Given the description of an element on the screen output the (x, y) to click on. 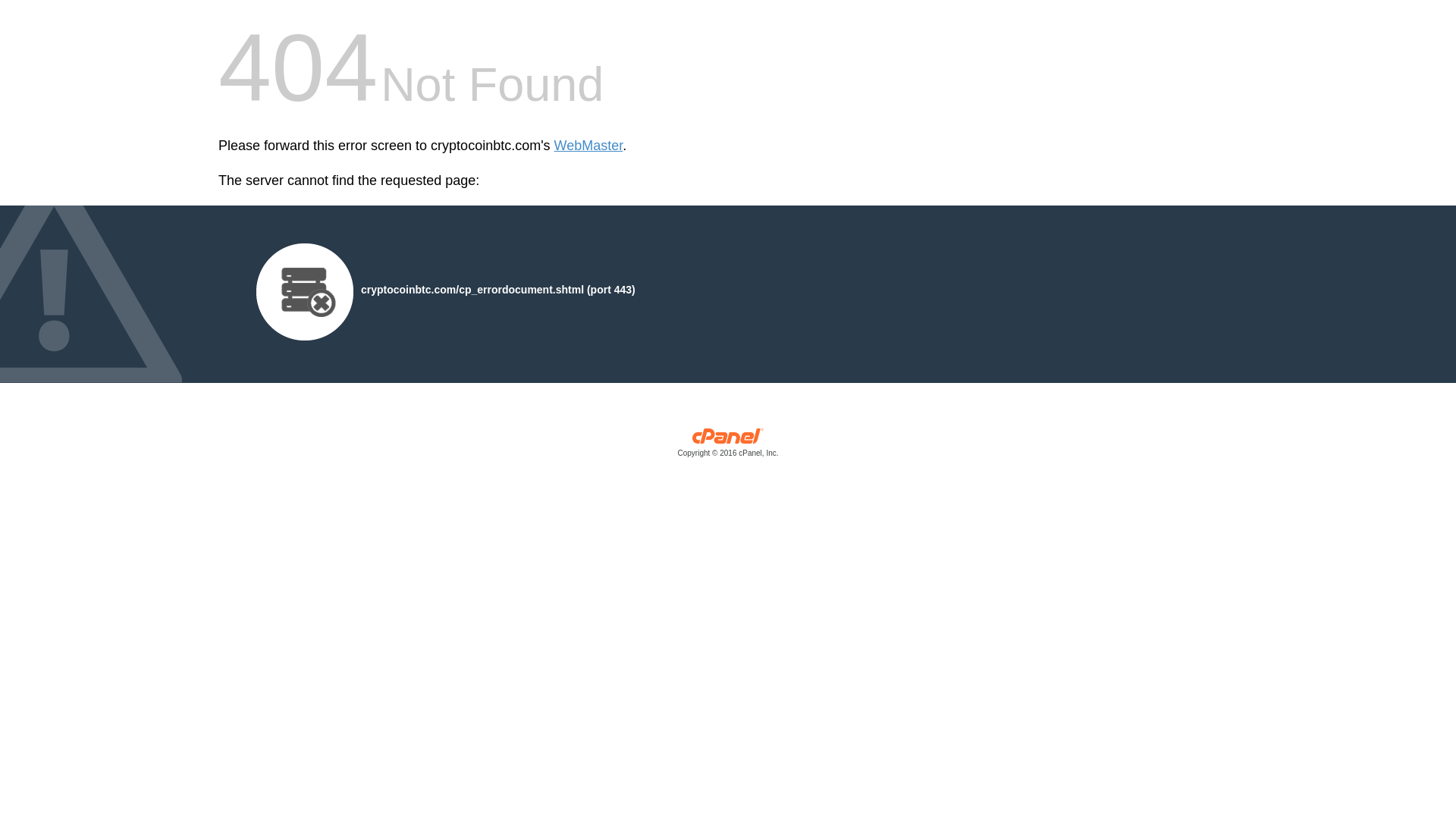
cPanel, Inc. (727, 446)
WebMaster (588, 145)
